Given the description of an element on the screen output the (x, y) to click on. 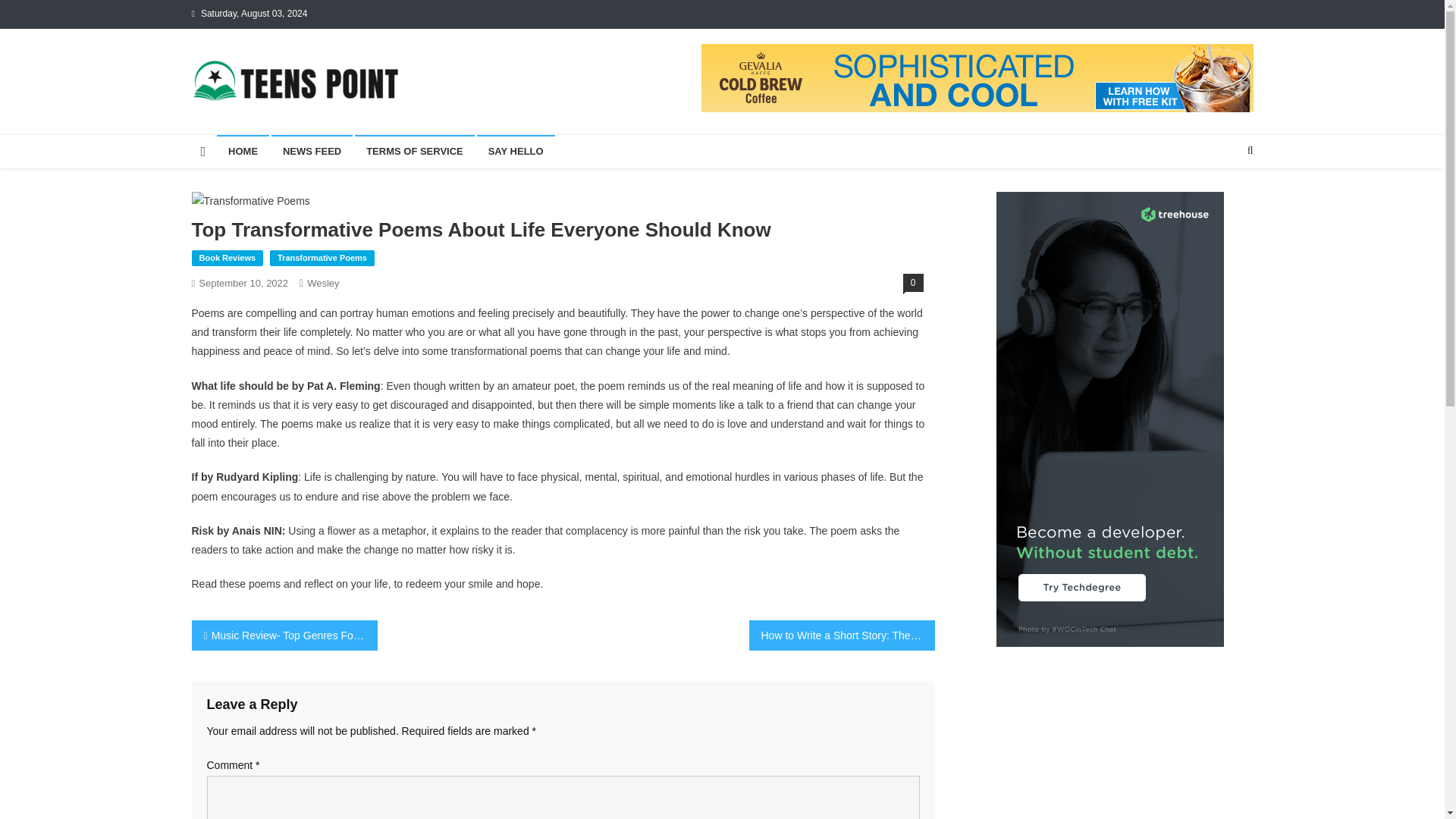
Wesley (323, 283)
Search (1221, 200)
SAY HELLO (515, 151)
How to Write a Short Story: The Complete Guide in 9 Steps (841, 634)
Music Review- Top Genres For Teens (283, 634)
NEWS FEED (311, 151)
0 (912, 282)
HOME (242, 151)
Book Reviews (226, 258)
Transformative Poems (321, 258)
Teens Point (258, 118)
TERMS OF SERVICE (414, 151)
September 10, 2022 (243, 283)
